Given the description of an element on the screen output the (x, y) to click on. 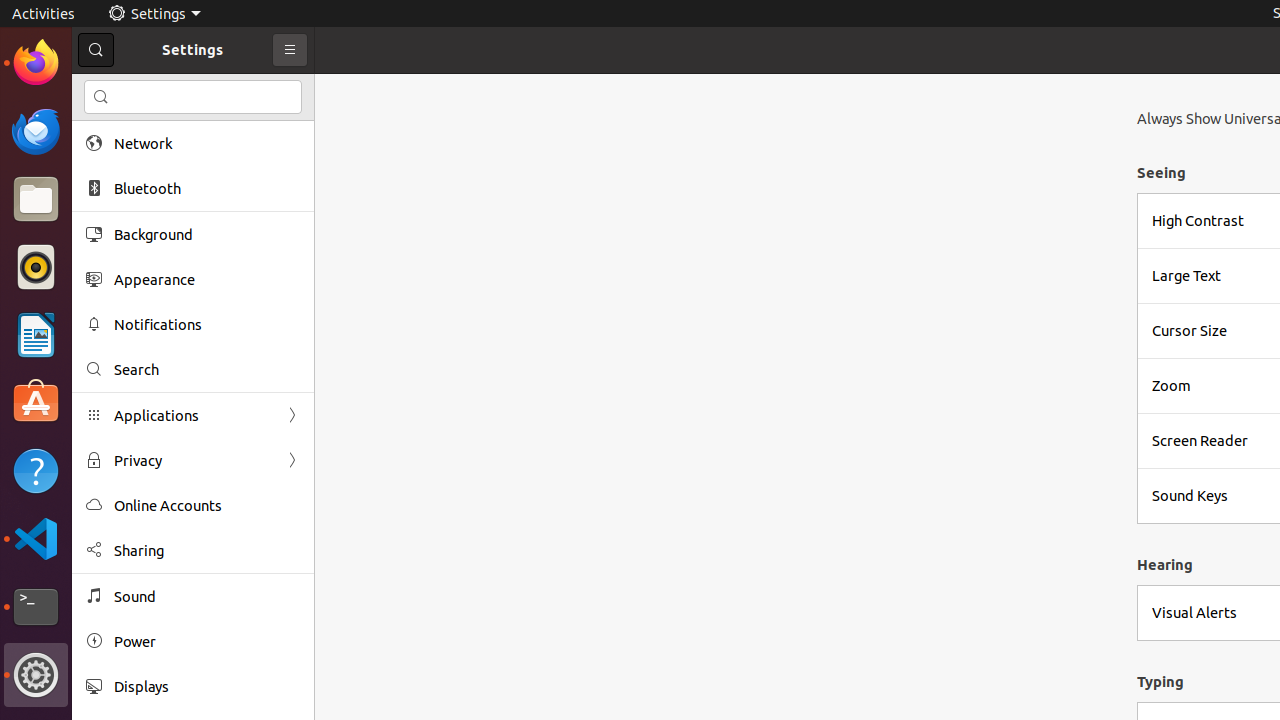
Power Element type: label (207, 641)
Settings Element type: menu (154, 13)
Notifications Element type: label (207, 324)
Search Element type: label (207, 369)
Forward Element type: icon (292, 460)
